Given the description of an element on the screen output the (x, y) to click on. 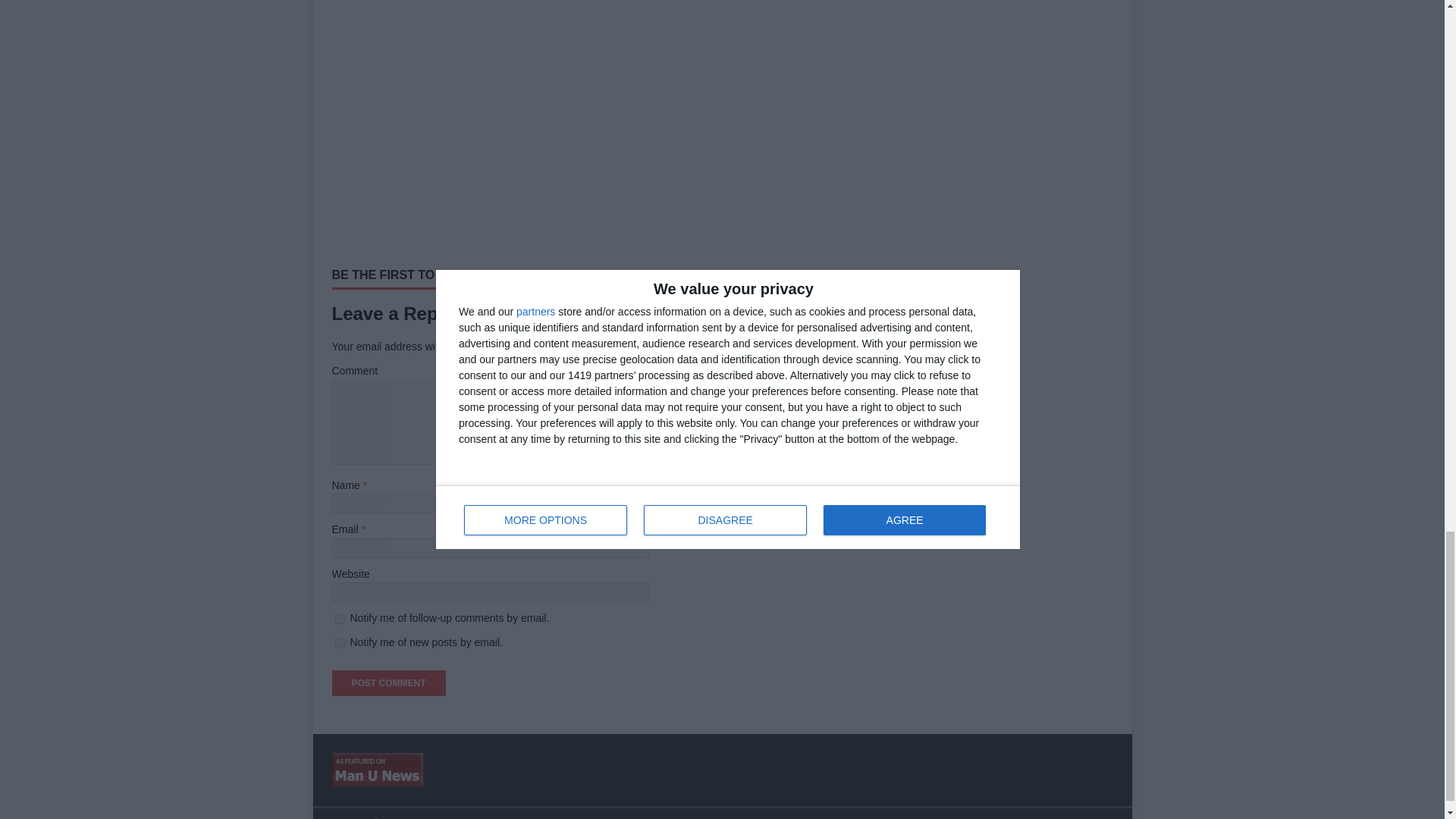
subscribe (339, 643)
Post Comment (388, 683)
Manchester United News (377, 778)
subscribe (339, 619)
Post Comment (388, 683)
